Given the description of an element on the screen output the (x, y) to click on. 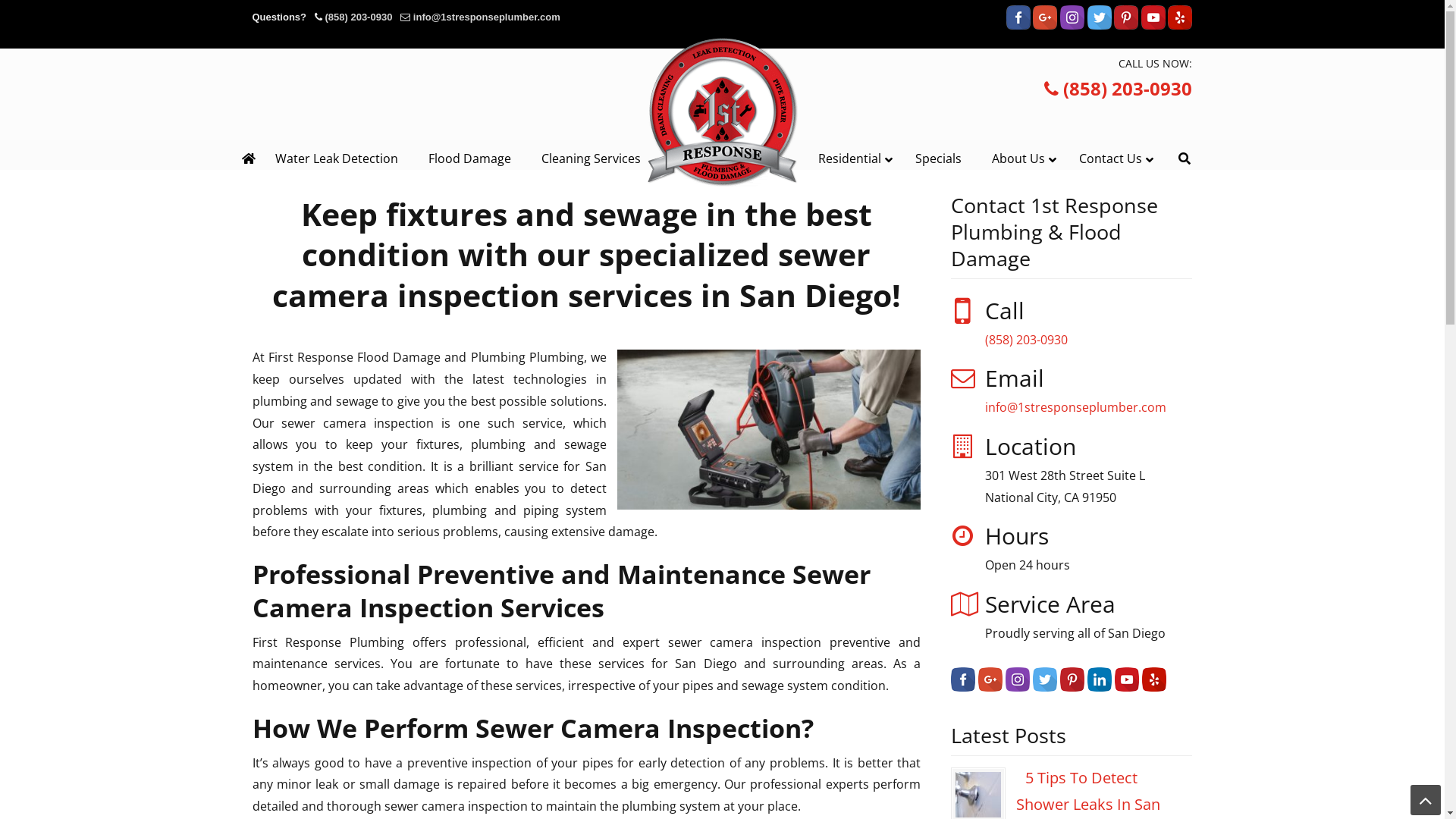
(858) 203-0930 Element type: text (1026, 338)
(858) 203-0930 Element type: text (1118, 88)
Water Leak Detection Element type: text (336, 158)
Pinterest Element type: hover (1072, 686)
Yelp Element type: hover (1154, 679)
Contact Us Element type: text (1112, 158)
Instagram Element type: hover (1072, 17)
Twitter Element type: hover (1099, 25)
Instagram Element type: hover (1072, 25)
Google Pages Element type: hover (990, 679)
Pinterest Element type: hover (1125, 17)
Yelp Element type: hover (1179, 25)
(858) 203-0930 Element type: text (358, 16)
Yelp Element type: hover (1179, 17)
YouTube Element type: hover (1153, 17)
Pinterest Element type: hover (1125, 25)
Instagram Element type: hover (1017, 686)
Google Pages Element type: hover (990, 686)
info@1stresponseplumber.com Element type: text (1075, 406)
Twitter Element type: hover (1044, 686)
About Us Element type: text (1019, 158)
info@1stresponseplumber.com Element type: text (486, 16)
Instagram Element type: hover (1017, 679)
LinkedIn Element type: hover (1099, 679)
Twitter Element type: hover (1099, 17)
Facebook Element type: hover (962, 686)
YouTube Element type: hover (1126, 686)
Residential Element type: text (851, 158)
Home Element type: hover (249, 158)
Yelp Element type: hover (1154, 686)
YouTube Element type: hover (1153, 25)
Specials Element type: text (938, 158)
Cleaning Services Element type: text (590, 158)
YouTube Element type: hover (1126, 679)
Facebook Element type: hover (1018, 25)
Twitter Element type: hover (1044, 679)
Facebook Element type: hover (1018, 17)
LinkedIn Element type: hover (1099, 686)
Facebook Element type: hover (962, 679)
Flood Damage Element type: text (469, 158)
Pinterest Element type: hover (1072, 679)
Google Pages Element type: hover (1044, 25)
Google Pages Element type: hover (1044, 17)
